Given the description of an element on the screen output the (x, y) to click on. 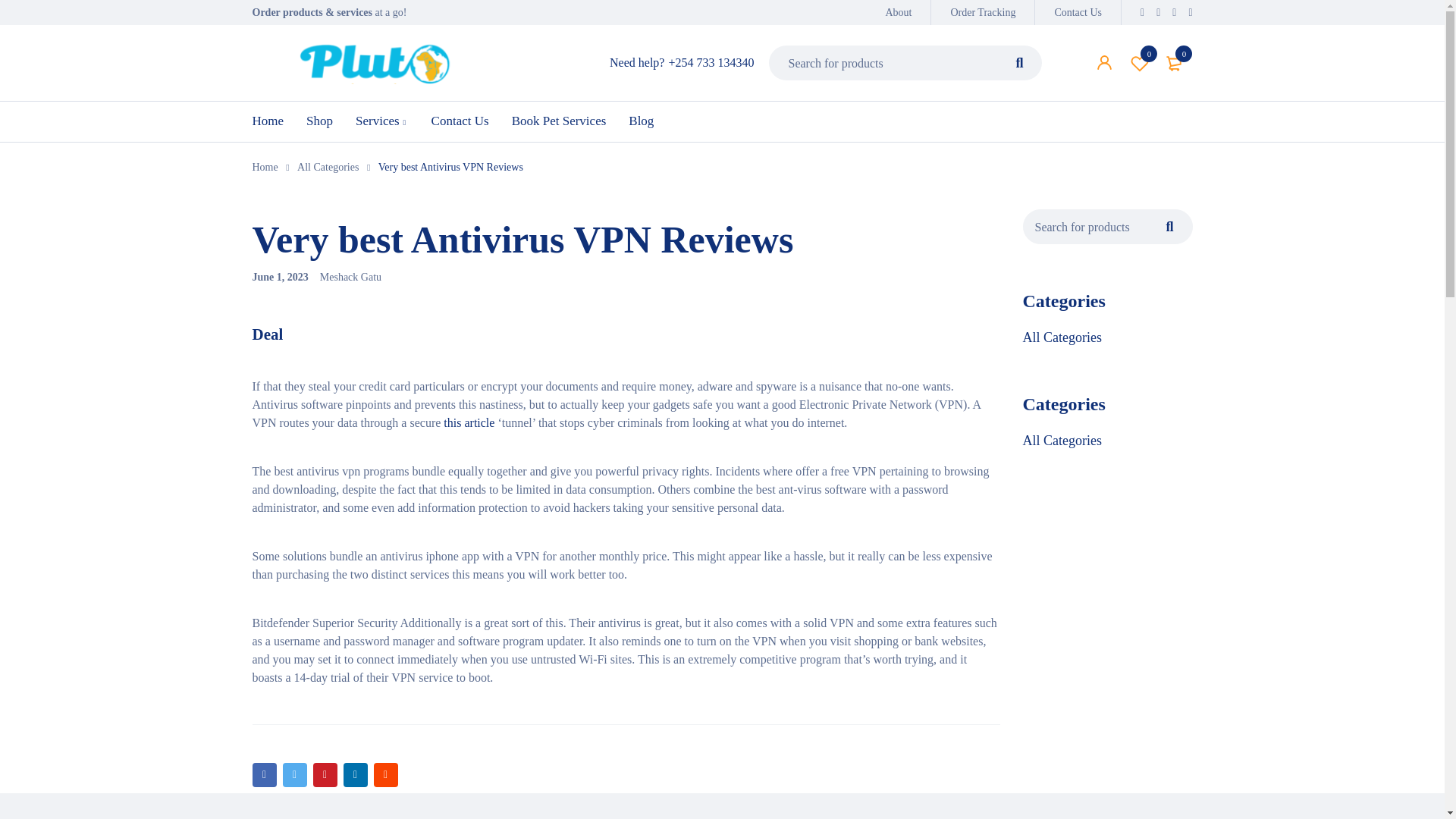
Search (1018, 62)
Search (1018, 62)
Wishlist (1139, 62)
0 (1174, 62)
Order Tracking (982, 12)
View your shopping cart (1174, 62)
Contact Us (1078, 12)
Posts by Meshack Gatu (1139, 62)
About (350, 276)
Pluto Pets (898, 12)
